Given the description of an element on the screen output the (x, y) to click on. 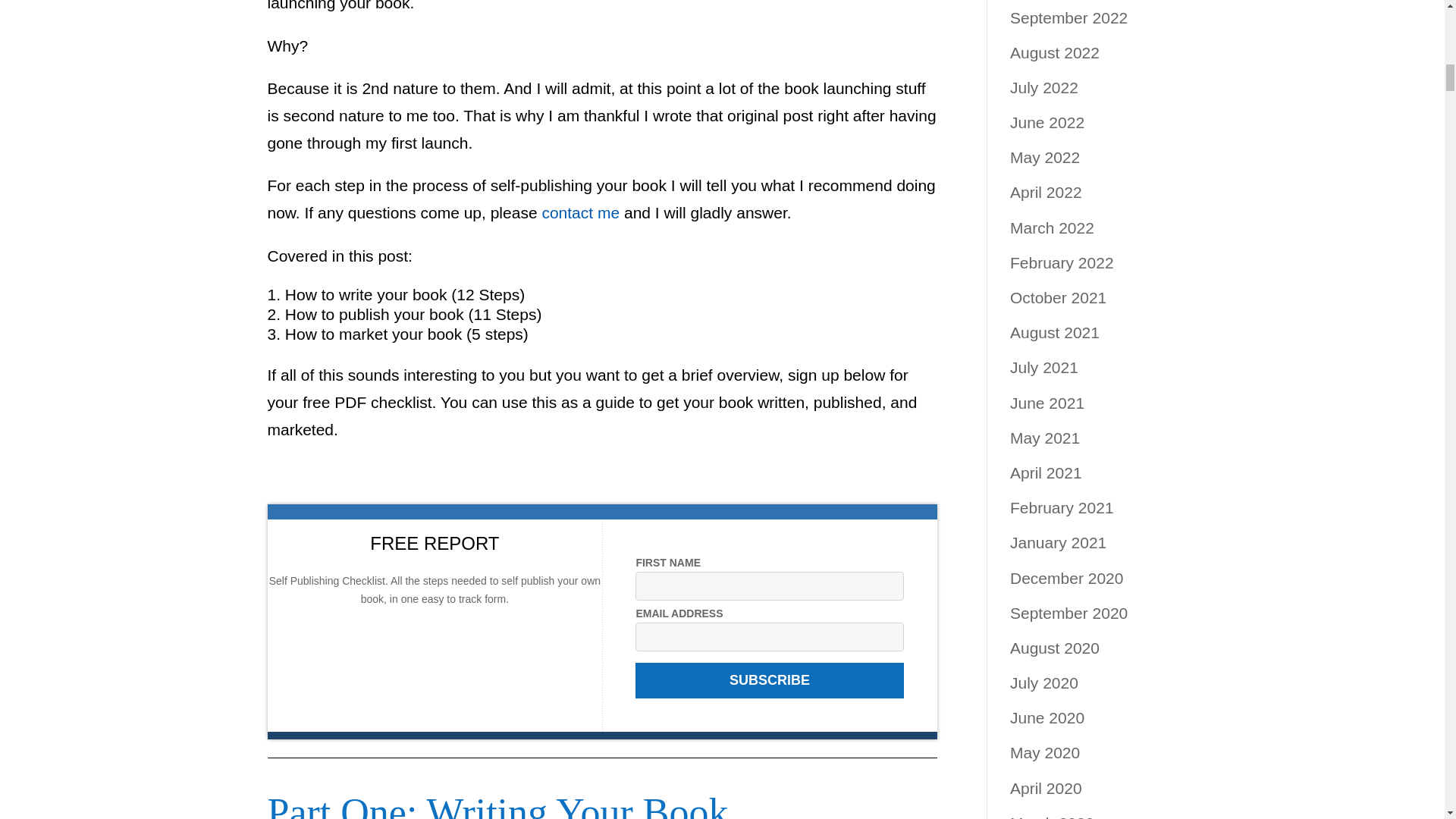
SUBSCRIBE (768, 680)
contact me (580, 212)
